Given the description of an element on the screen output the (x, y) to click on. 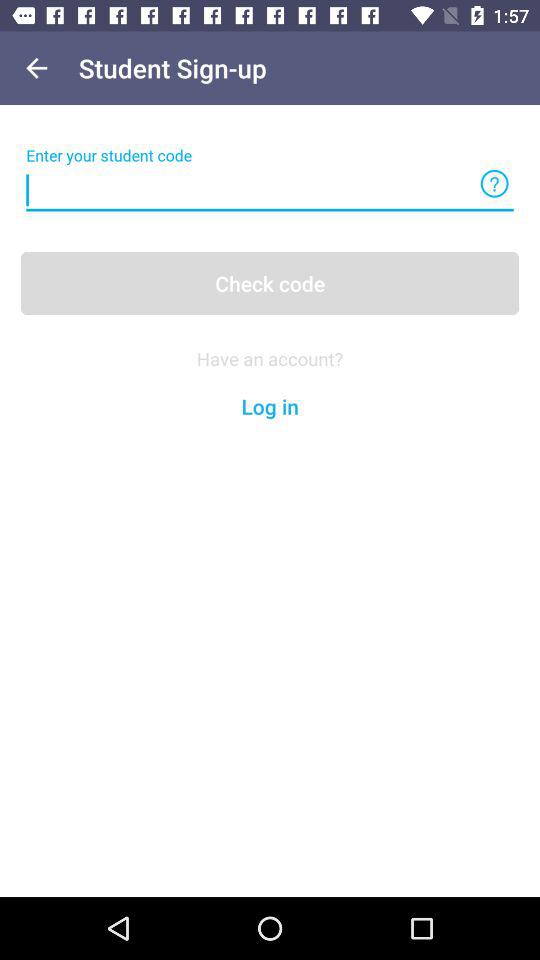
more inversmetion (494, 183)
